Given the description of an element on the screen output the (x, y) to click on. 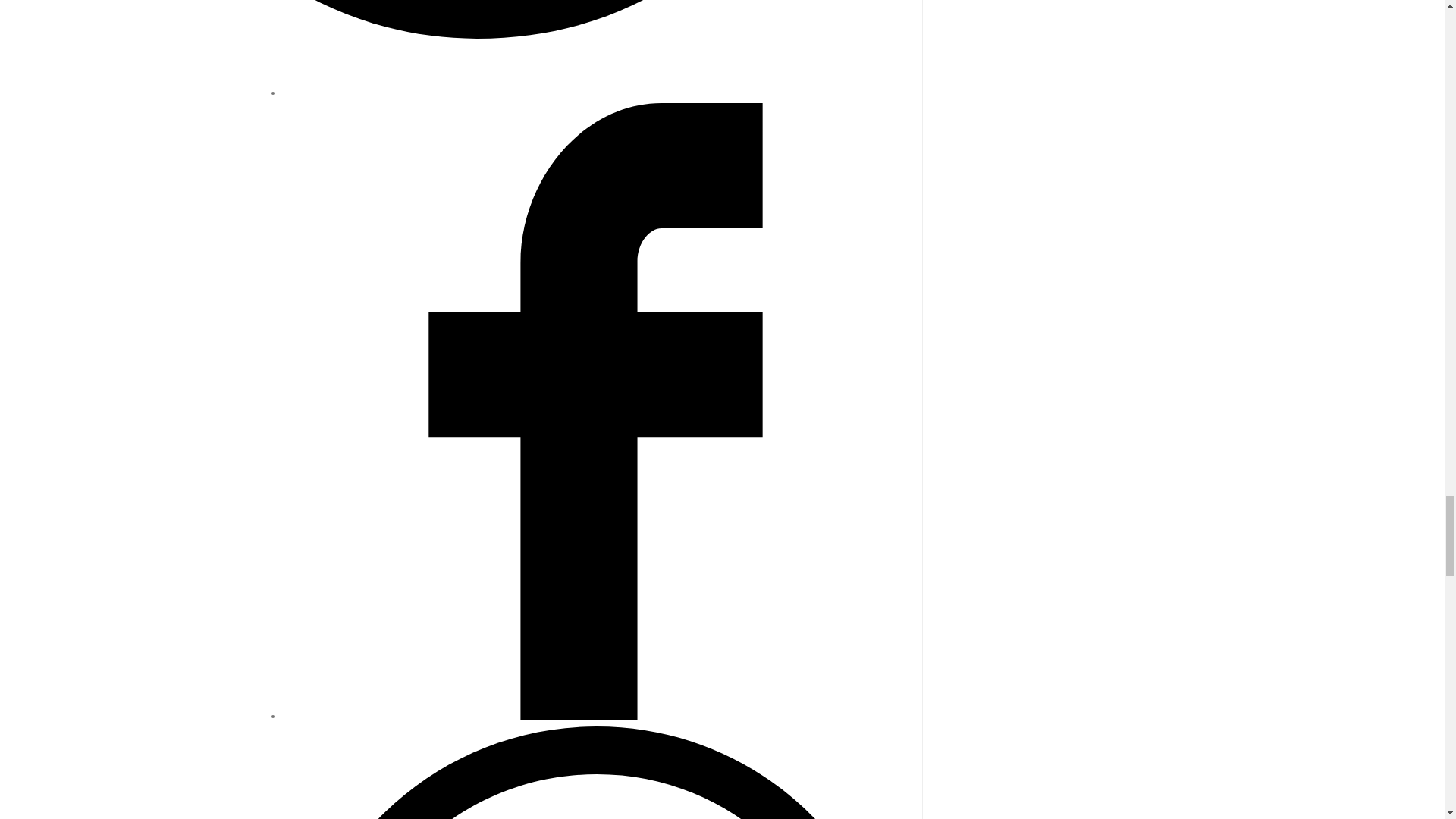
Share on Facebook (590, 715)
Share on Twitter (590, 92)
